Given the description of an element on the screen output the (x, y) to click on. 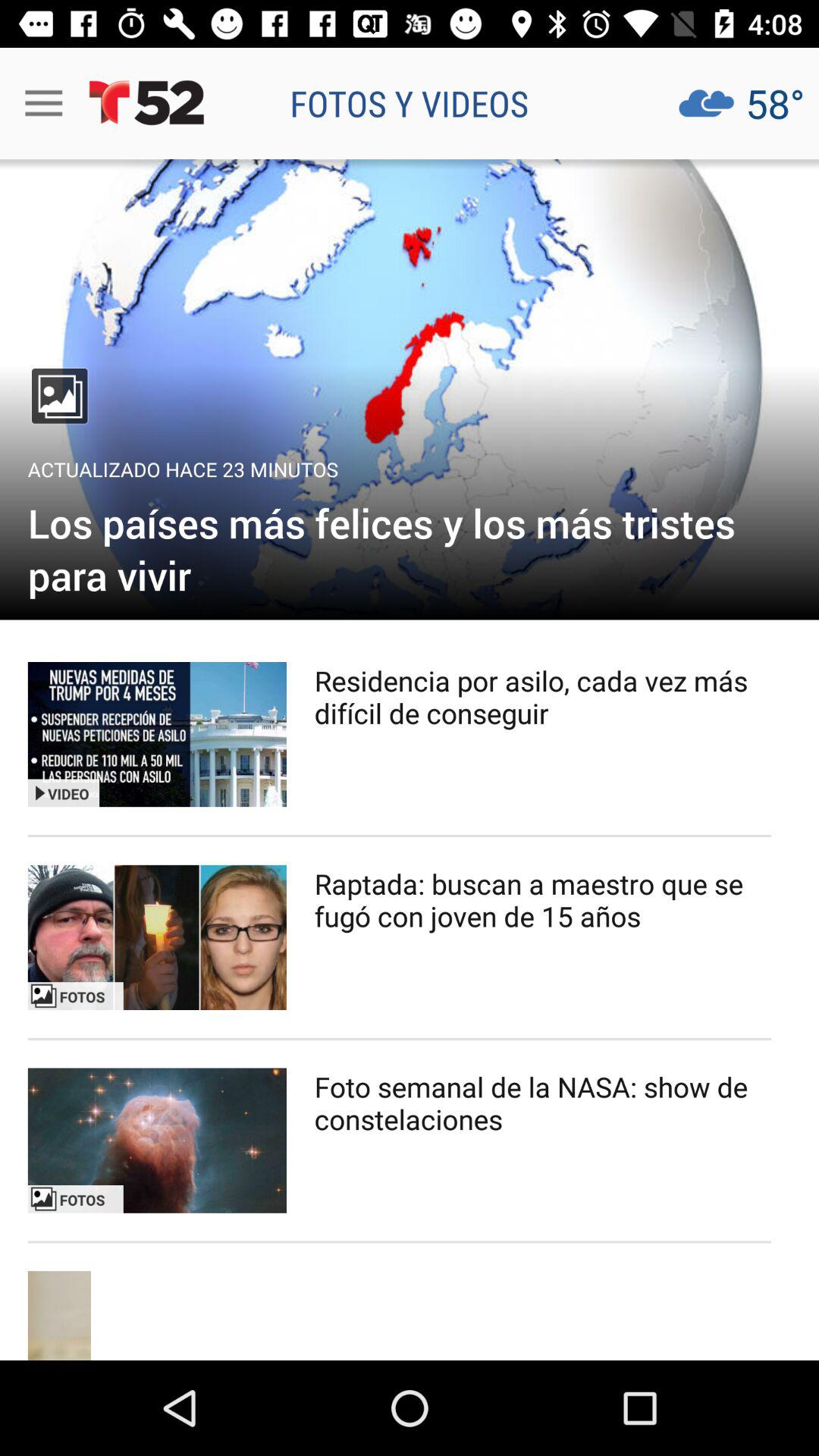
view the article (156, 1140)
